Given the description of an element on the screen output the (x, y) to click on. 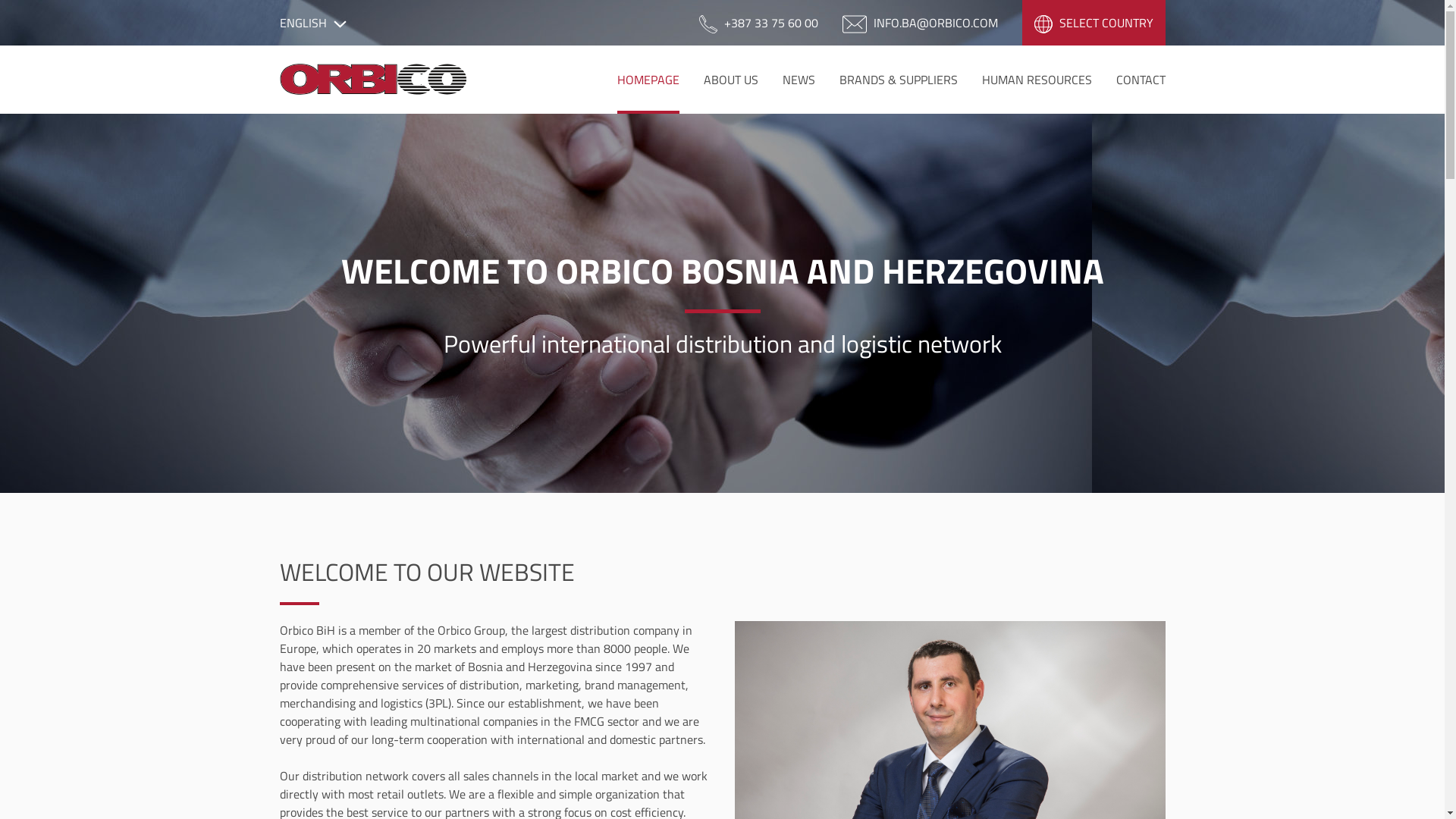
Orbico Bosnia Element type: text (372, 79)
INFO.BA@ORBICO.COM Element type: text (919, 22)
HOMEPAGE Element type: text (648, 79)
CONTACT Element type: text (1140, 79)
NEWS Element type: text (798, 79)
SELECT COUNTRY Element type: text (1093, 22)
ENGLISH Element type: text (312, 22)
BRANDS & SUPPLIERS Element type: text (897, 79)
HUMAN RESOURCES Element type: text (1036, 79)
ABOUT US Element type: text (730, 79)
+387 33 75 60 00 Element type: text (758, 22)
